Given the description of an element on the screen output the (x, y) to click on. 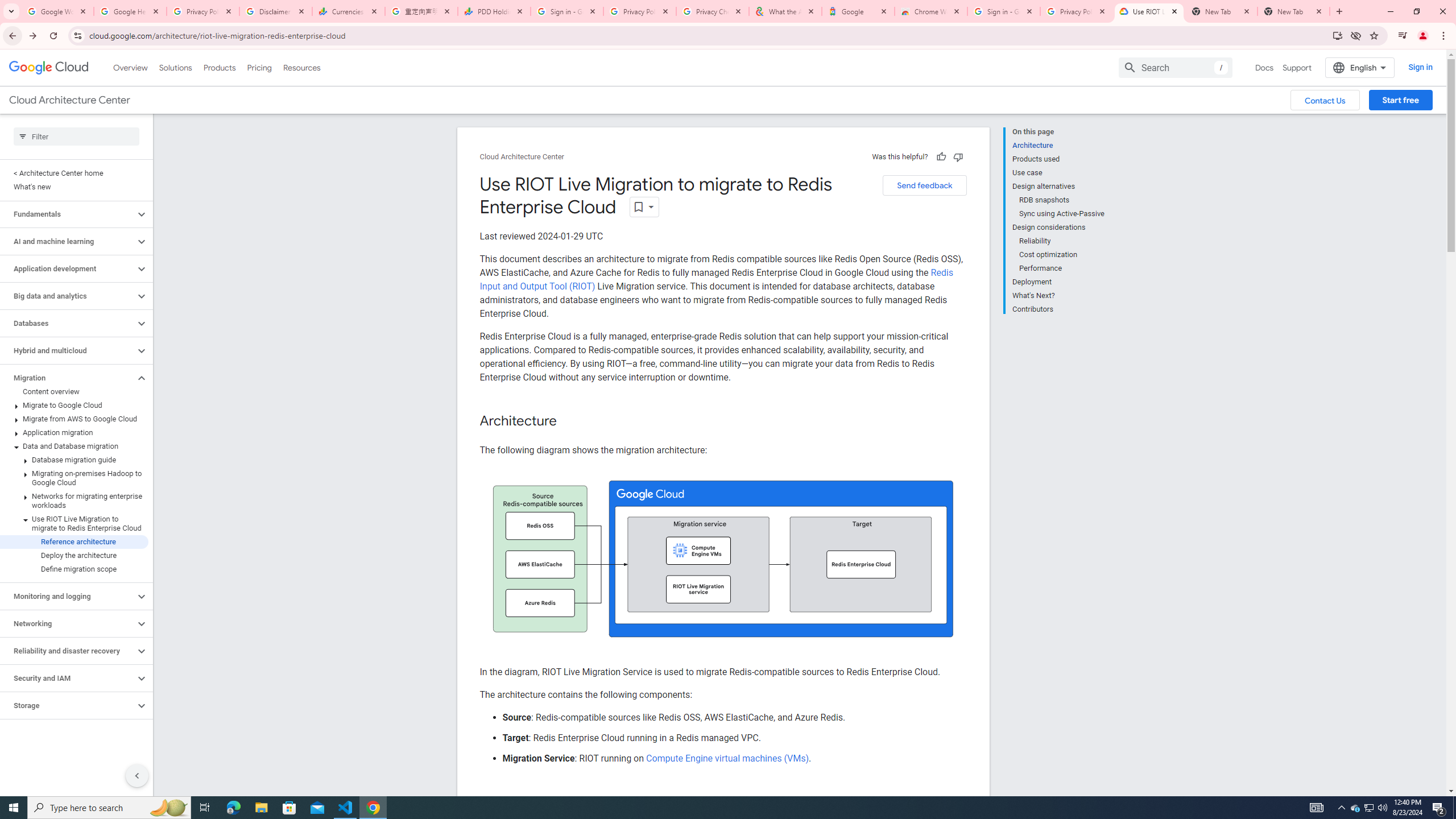
Not helpful (957, 156)
Migrate to Google Cloud (74, 404)
Fundamentals (67, 214)
Cost optimization (1062, 254)
Sync using Active-Passive (1062, 213)
Sign in - Google Accounts (1003, 11)
Contributors (1058, 307)
Compute Engine virtual machines (VMs) (726, 758)
What's Next? (1058, 295)
